Given the description of an element on the screen output the (x, y) to click on. 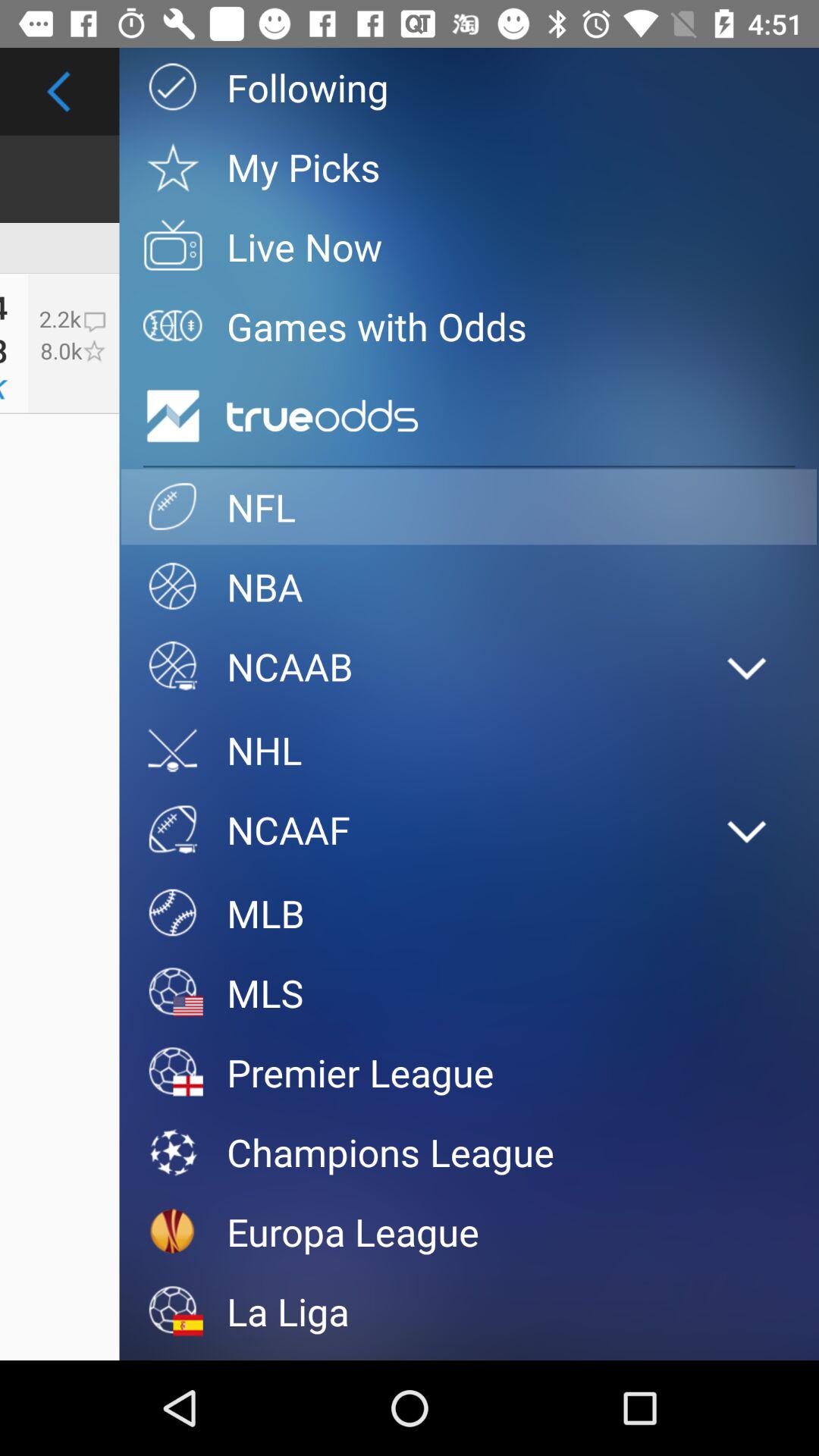
select item below nfl item (469, 586)
